Given the description of an element on the screen output the (x, y) to click on. 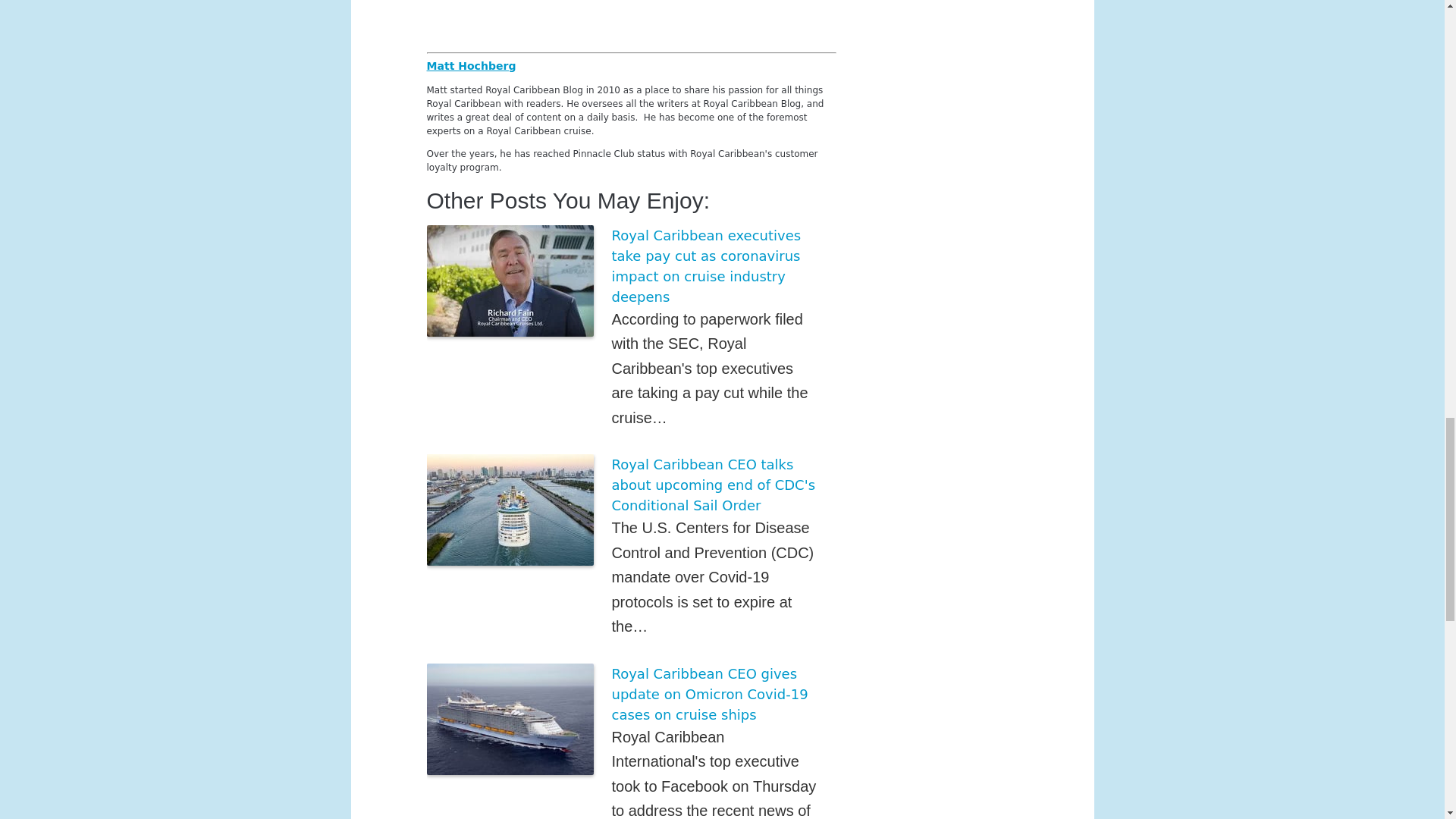
Matt Hochberg (470, 64)
